Given the description of an element on the screen output the (x, y) to click on. 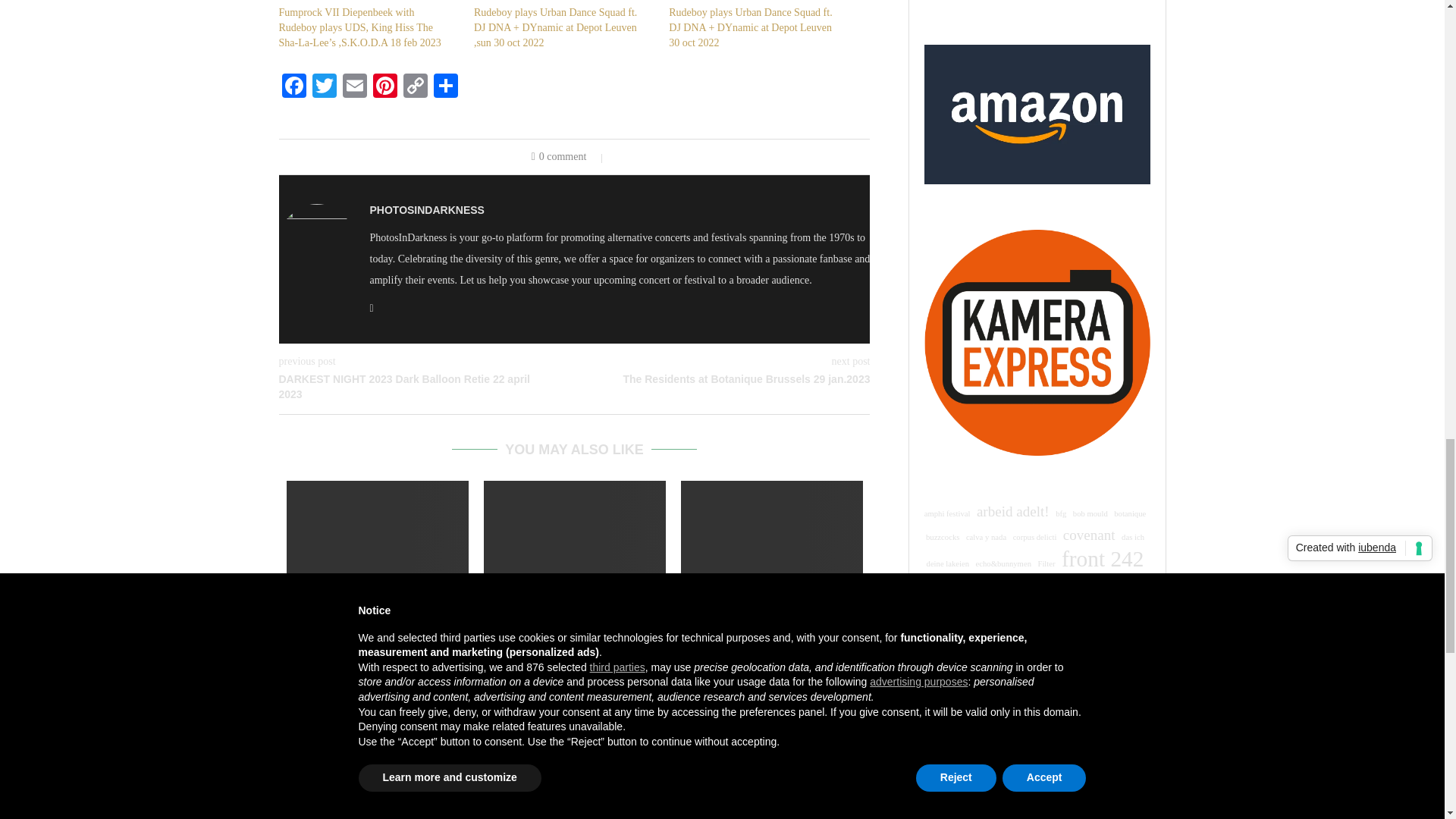
Copy Link (415, 87)
Pinterest (384, 87)
Twitter (323, 87)
Share (445, 87)
Facebook (293, 87)
Twitter (323, 87)
Copy Link (415, 87)
Facebook (293, 87)
Helmet 30th Anniversary of Betty, Het Depot Leuven... (376, 628)
Pinterest (384, 87)
The Residents at Botanique Brussels 29 jan.2023 (722, 379)
DARKEST NIGHT 2023 Dark Balloon Retie 22 april 2023 (427, 387)
Author photosindarkness (426, 209)
PHOTOSINDARKNESS (426, 209)
Email (354, 87)
